Given the description of an element on the screen output the (x, y) to click on. 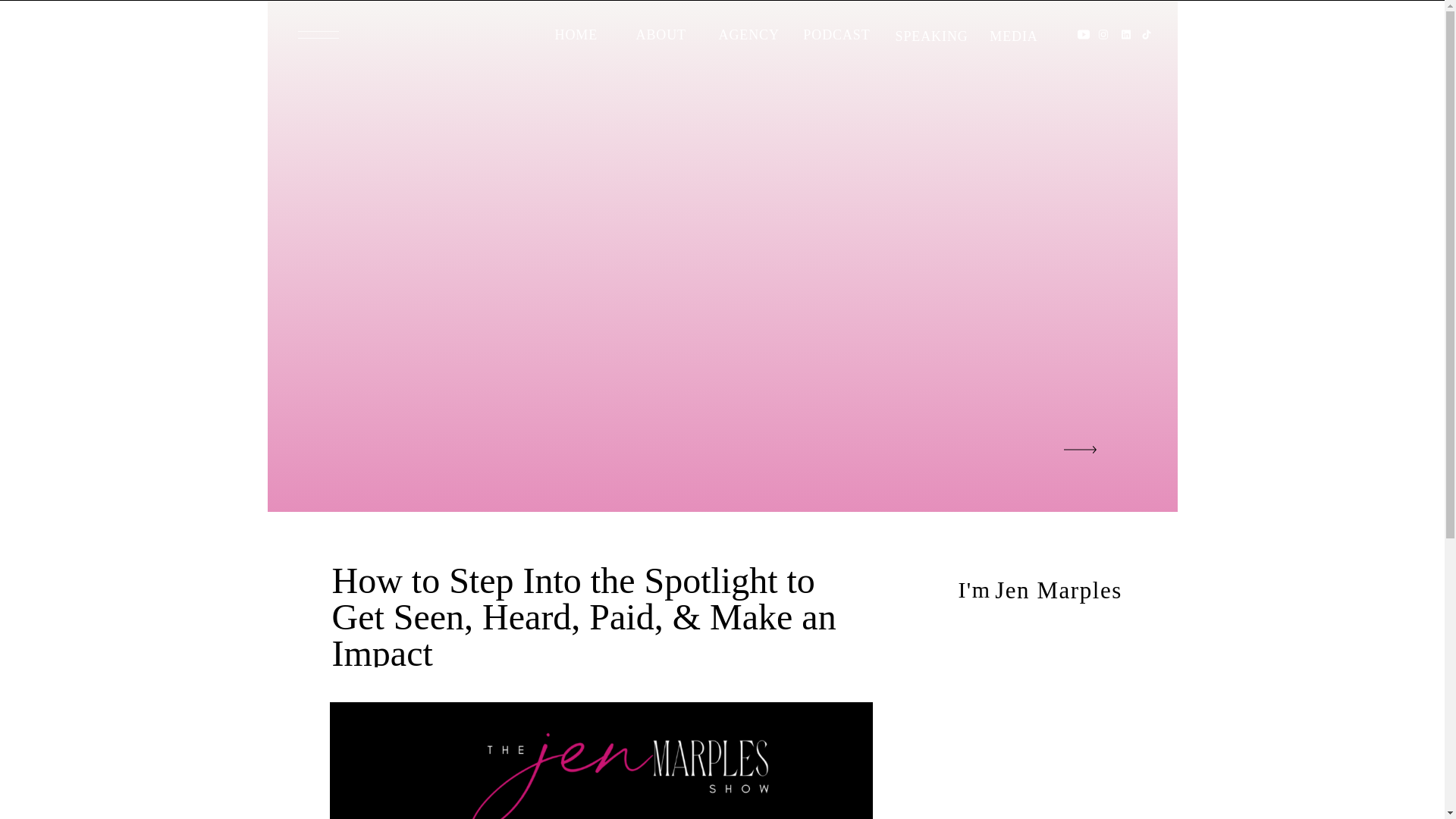
MEDIA (1013, 33)
SPEAKING (923, 33)
HOME (571, 32)
ABOUT (653, 31)
PODCAST (836, 32)
AGENCY (735, 32)
